Given the description of an element on the screen output the (x, y) to click on. 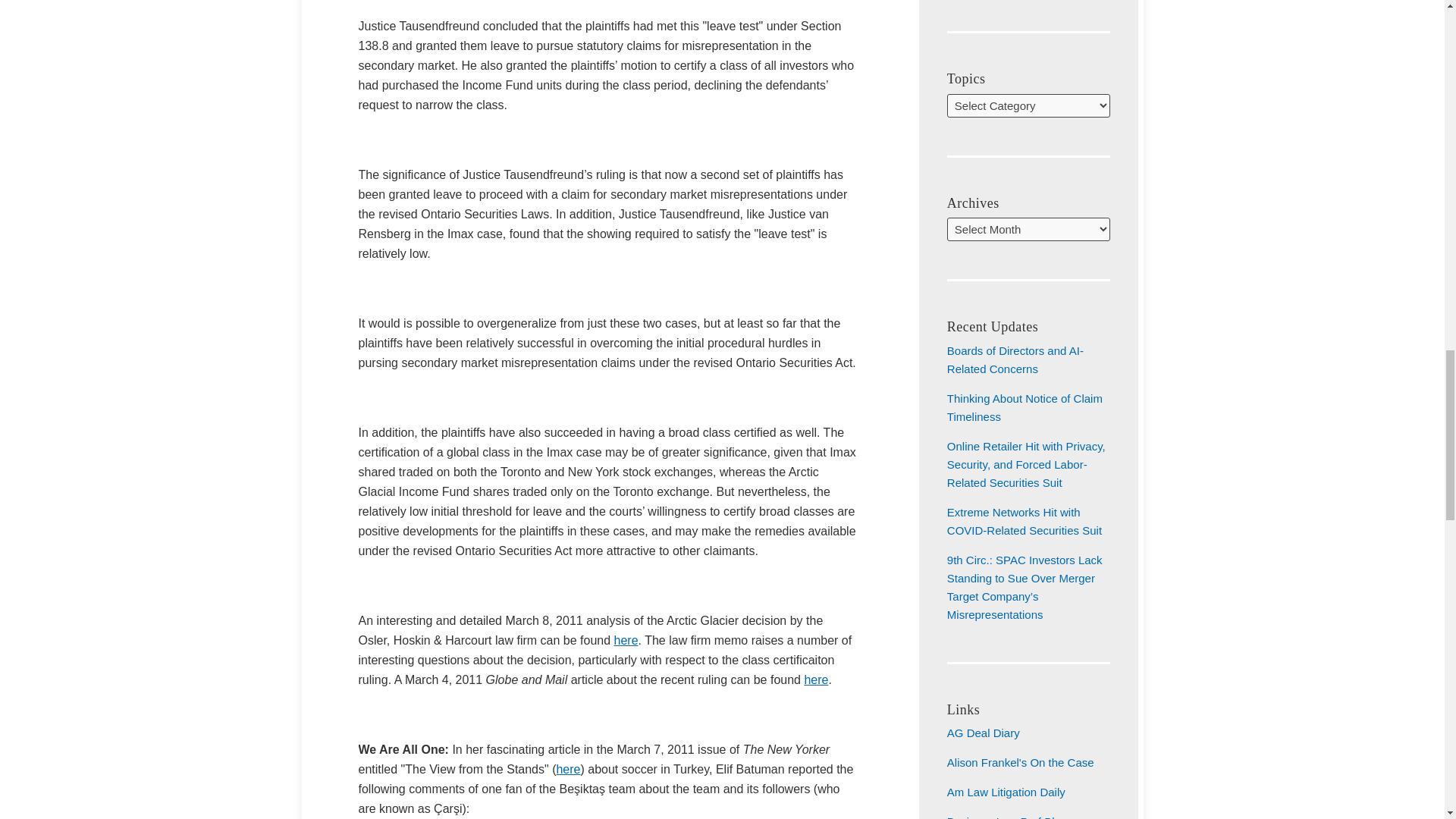
here (626, 640)
here (815, 679)
here (567, 768)
